Given the description of an element on the screen output the (x, y) to click on. 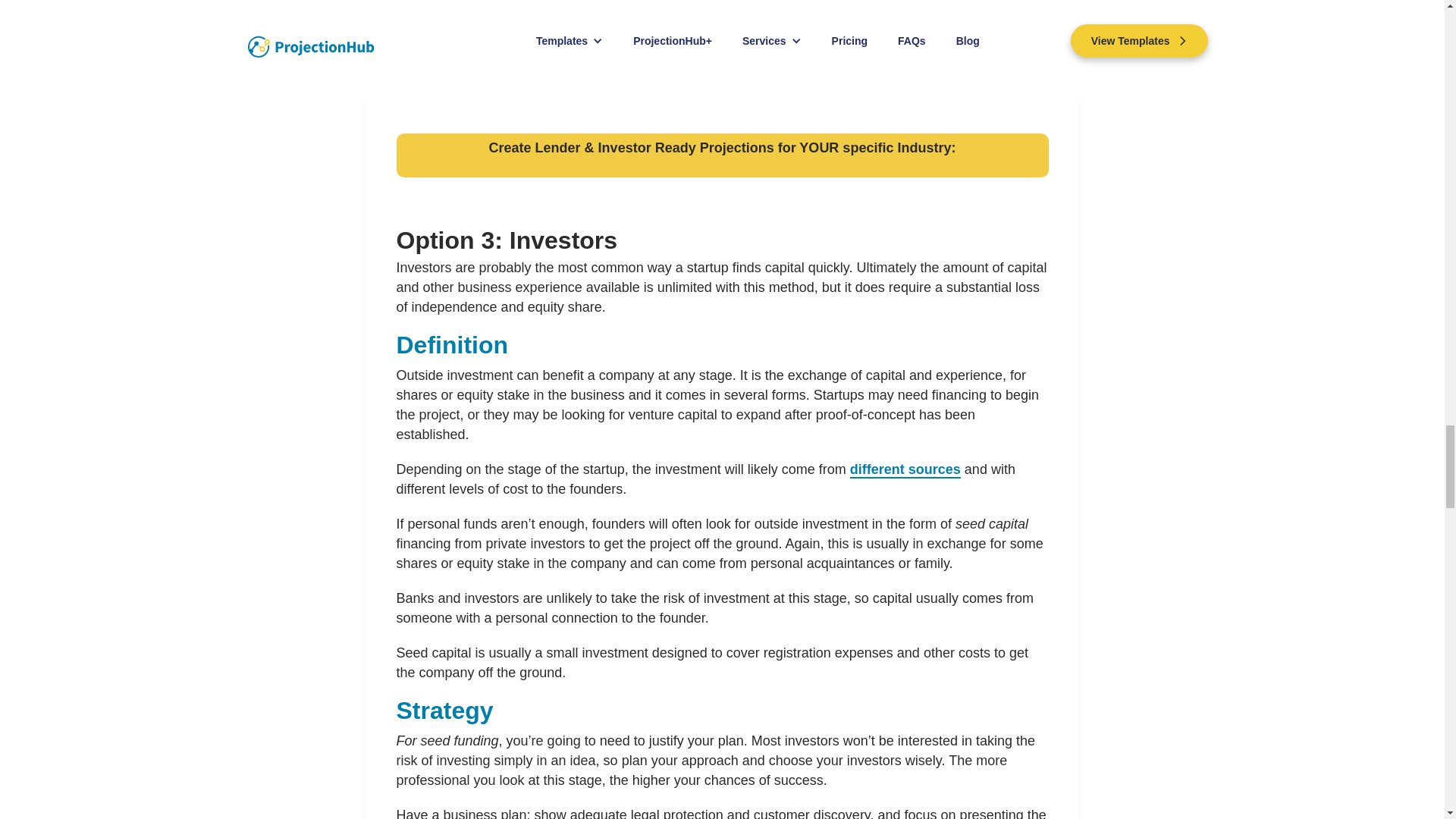
different sources (905, 469)
